Given the description of an element on the screen output the (x, y) to click on. 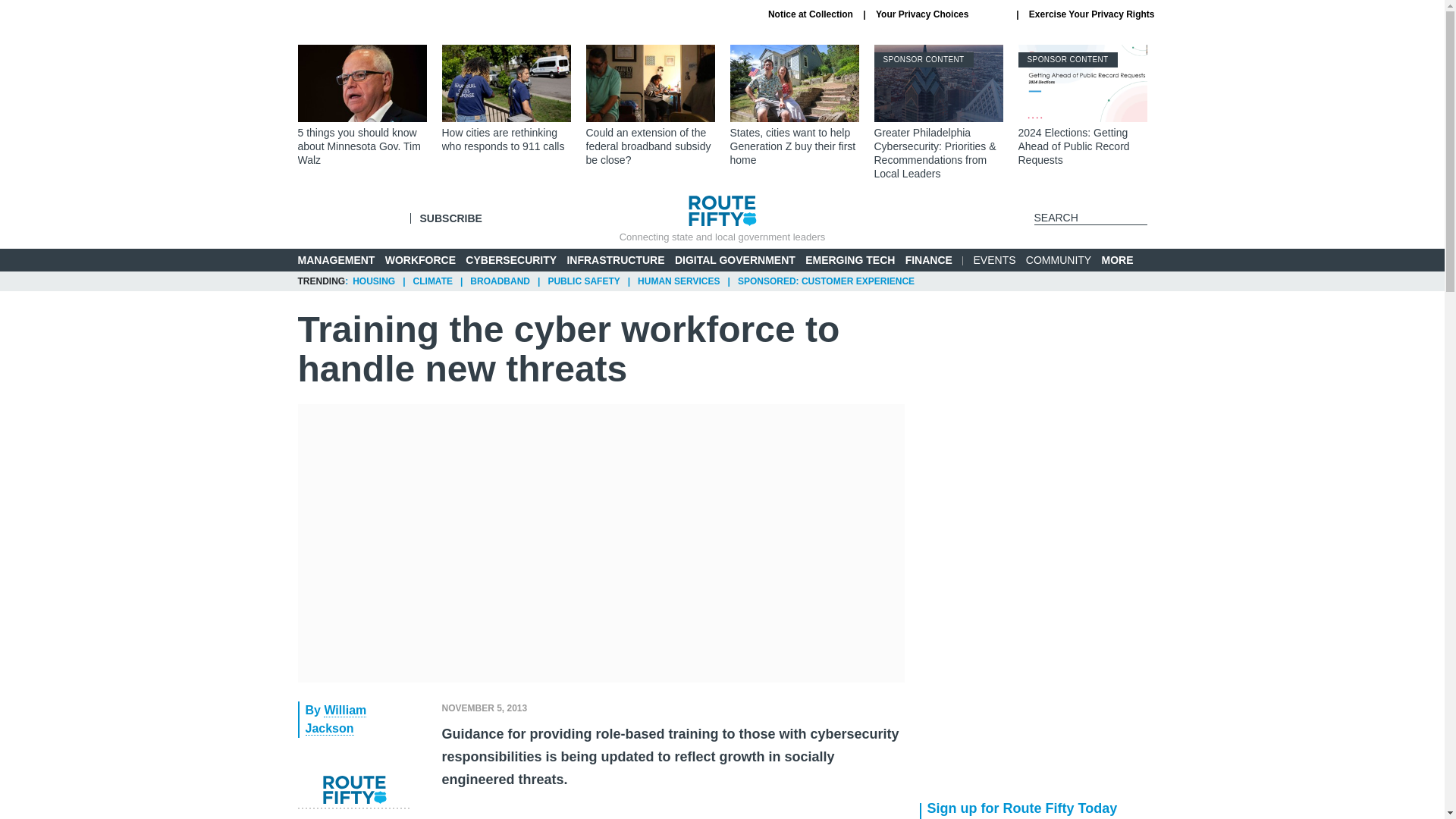
DIGITAL GOVERNMENT (734, 259)
CYBERSECURITY (510, 259)
5 things you should know about Minnesota Gov. Tim Walz (361, 106)
FINANCE (928, 259)
INFRASTRUCTURE (614, 259)
SUBSCRIBE (450, 218)
Notice at Collection (810, 14)
EMERGING TECH (850, 259)
How cities are rethinking who responds to 911 calls (505, 99)
